Given the description of an element on the screen output the (x, y) to click on. 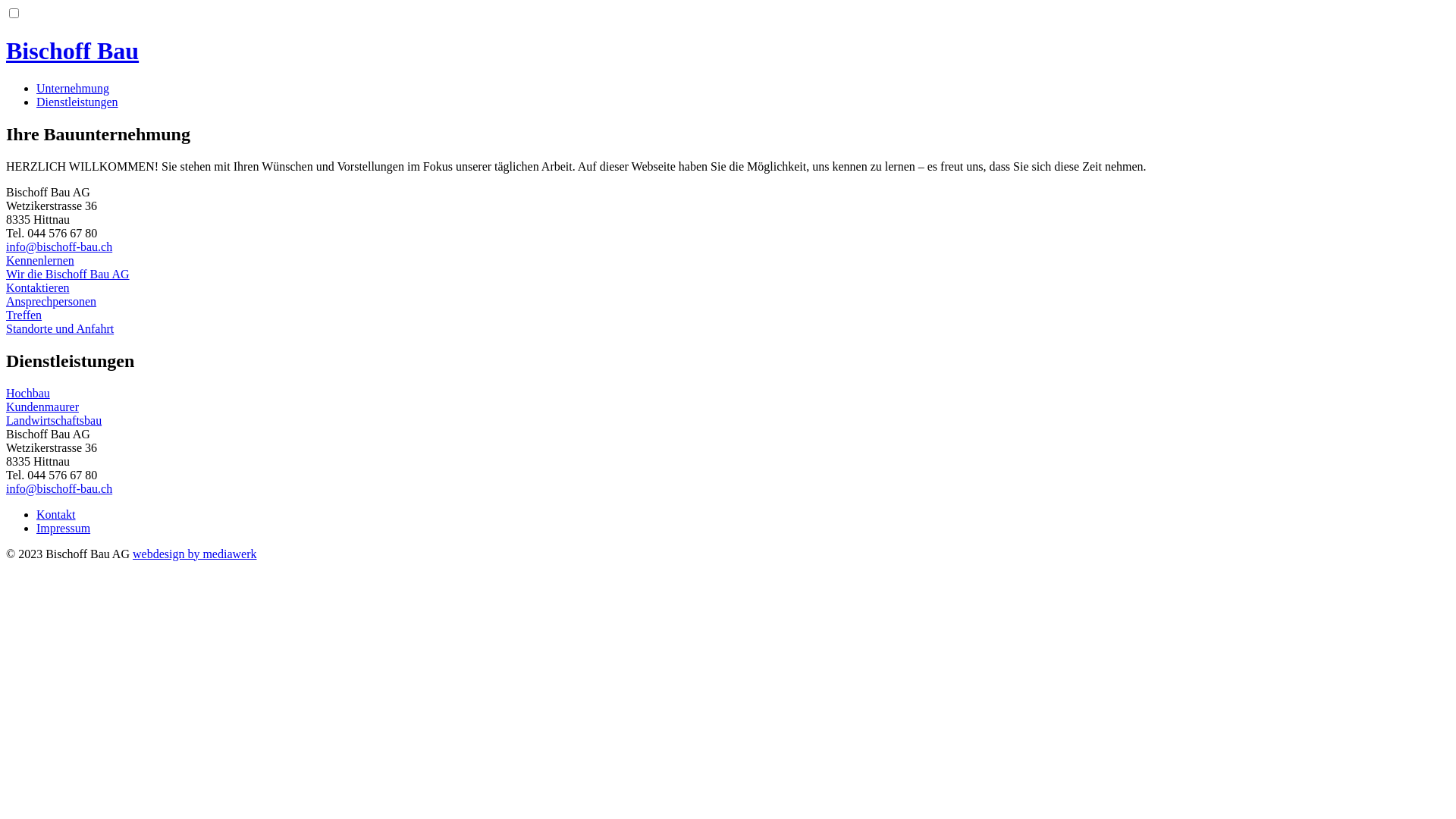
Kontakt Element type: text (55, 514)
Kontaktieren
Ansprechpersonen Element type: text (727, 294)
Bischoff Bau Element type: text (727, 51)
Dienstleistungen Element type: text (77, 101)
Treffen
Standorte und Anfahrt Element type: text (727, 321)
info@bischoff-bau.ch Element type: text (59, 488)
Kennenlernen
Wir die Bischoff Bau AG Element type: text (727, 267)
Hochbau Element type: text (727, 393)
Landwirtschaftsbau Element type: text (727, 420)
webdesign by mediawerk Element type: text (194, 553)
Kundenmaurer Element type: text (727, 407)
info@bischoff-bau.ch Element type: text (59, 246)
Impressum Element type: text (63, 527)
Unternehmung Element type: text (72, 87)
